Given the description of an element on the screen output the (x, y) to click on. 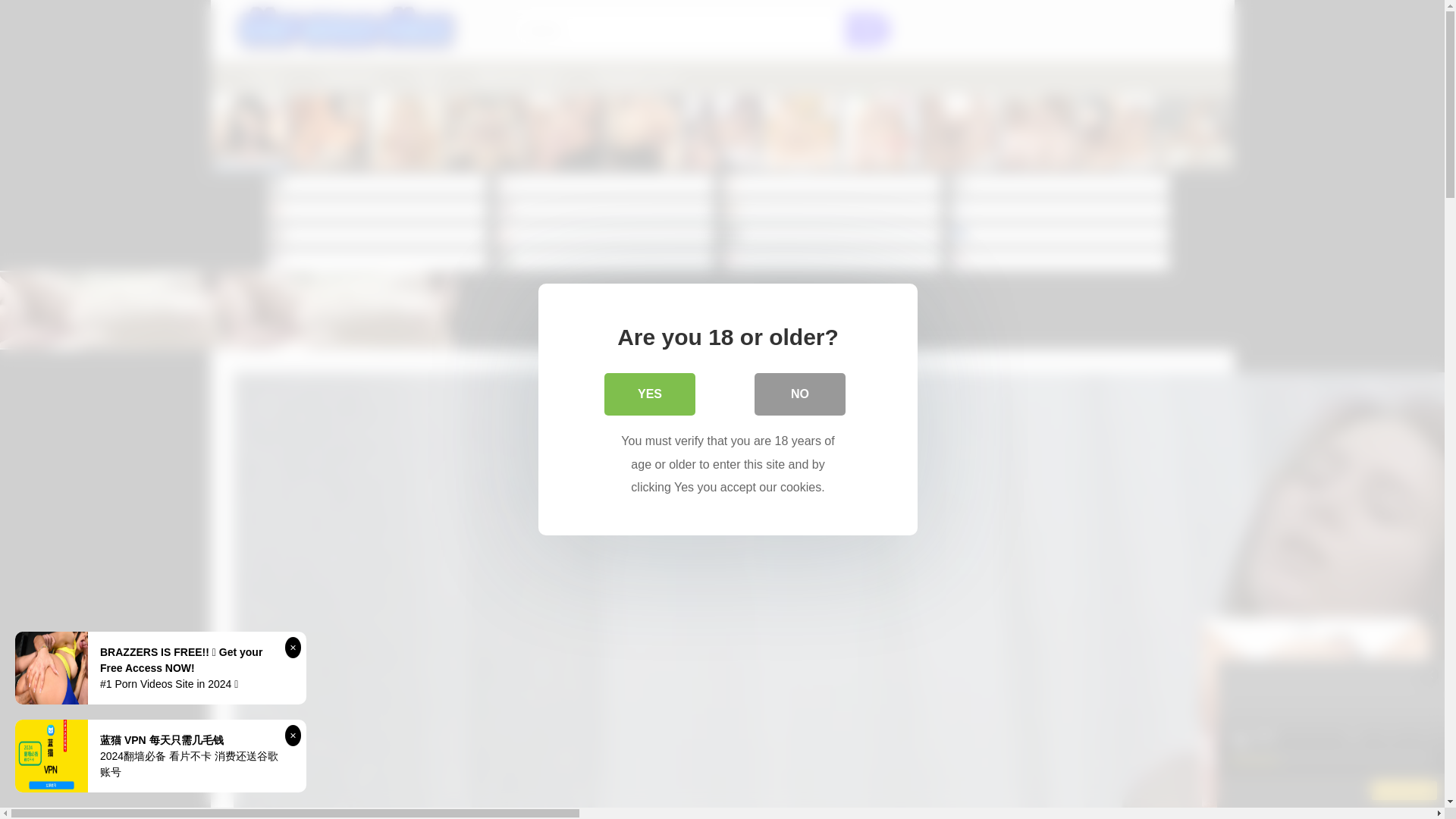
Search... (680, 29)
Screw My Wife Now (1059, 209)
Free Mature Sex (832, 260)
Wife Sex Tapes (518, 77)
Adult Home Videos (1059, 234)
Mature Porn Chicks (832, 209)
Mature Porn Tube (376, 184)
Supreme Porn List (1059, 260)
Older Women Porno (1059, 184)
Sex Made At Home (605, 234)
Grandmom Porn (376, 209)
Milf HD Videos (605, 209)
Sex Amateur Clips (376, 260)
Categories (348, 77)
List Of Sex (832, 184)
